Given the description of an element on the screen output the (x, y) to click on. 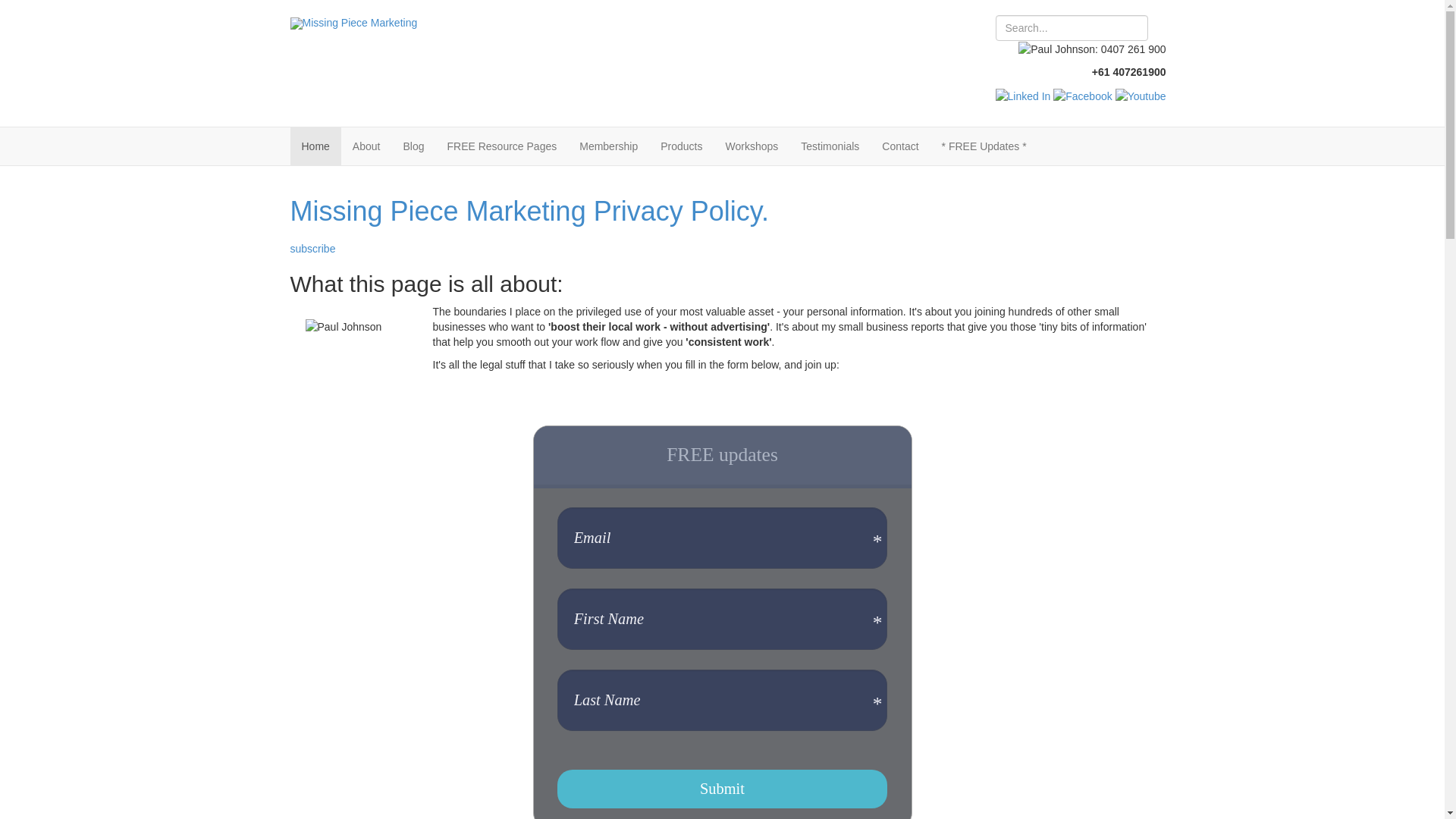
Membership Element type: text (608, 146)
Missing Piece Marketing Element type: hover (353, 23)
Paul Johnson: 0407 261 900 Element type: hover (1091, 48)
Testimonials Element type: text (829, 146)
subscribe Element type: text (312, 248)
Submit Element type: text (722, 788)
Products Element type: text (681, 146)
Missing Piece Marketing Privacy Policy. Element type: text (528, 210)
Blog Element type: text (413, 146)
* FREE Updates * Element type: text (984, 146)
Contact Element type: text (899, 146)
Facebook Element type: hover (1082, 95)
Workshops Element type: text (752, 146)
Youtube Element type: hover (1140, 95)
Home Element type: text (314, 146)
About Element type: text (366, 146)
Linked In Element type: hover (1023, 95)
FREE Resource Pages Element type: text (501, 146)
